Given the description of an element on the screen output the (x, y) to click on. 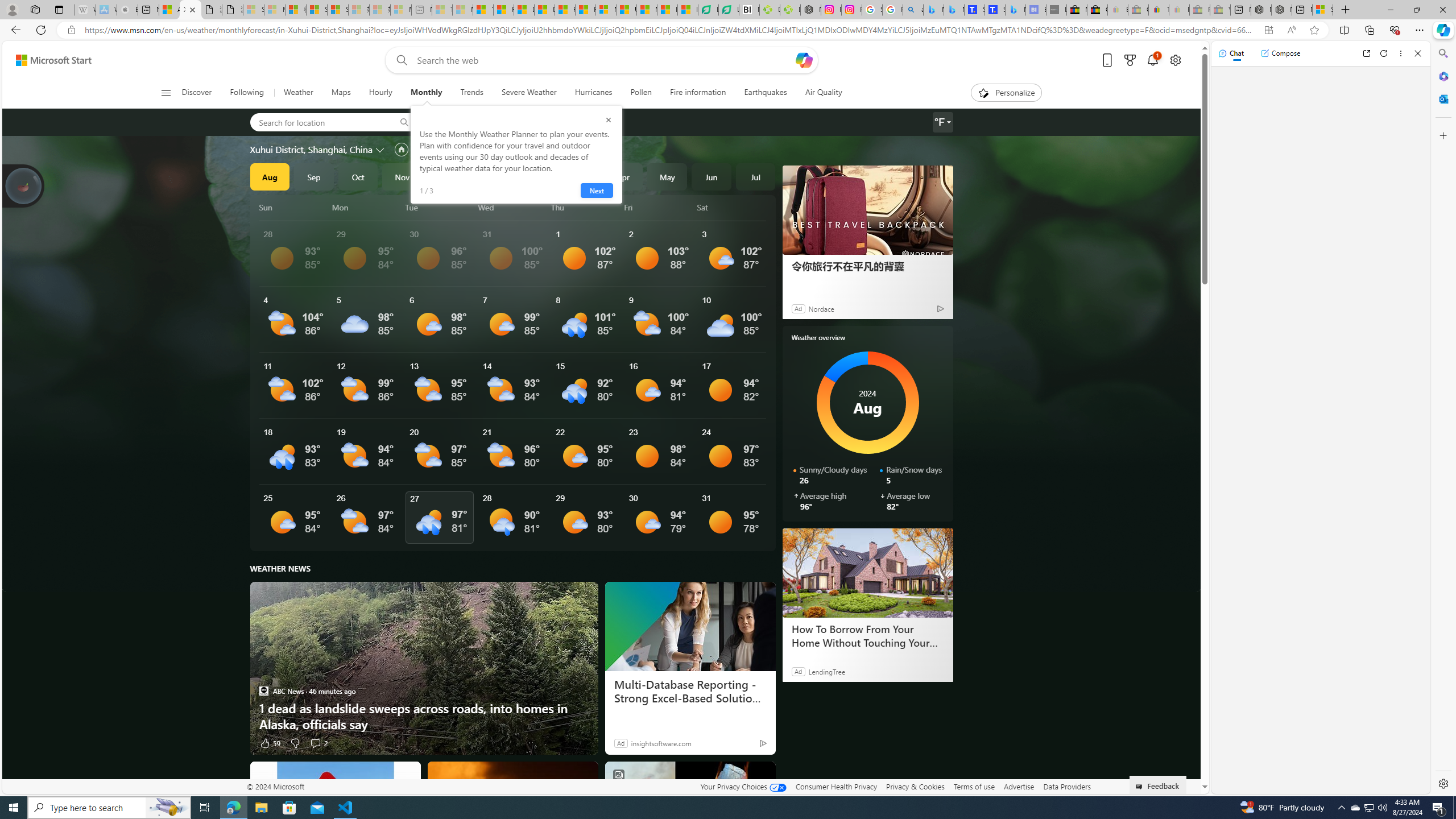
May (667, 176)
Mar (578, 176)
Jun (710, 176)
Safety in Our Products - Google Safety Center (871, 9)
